Given the description of an element on the screen output the (x, y) to click on. 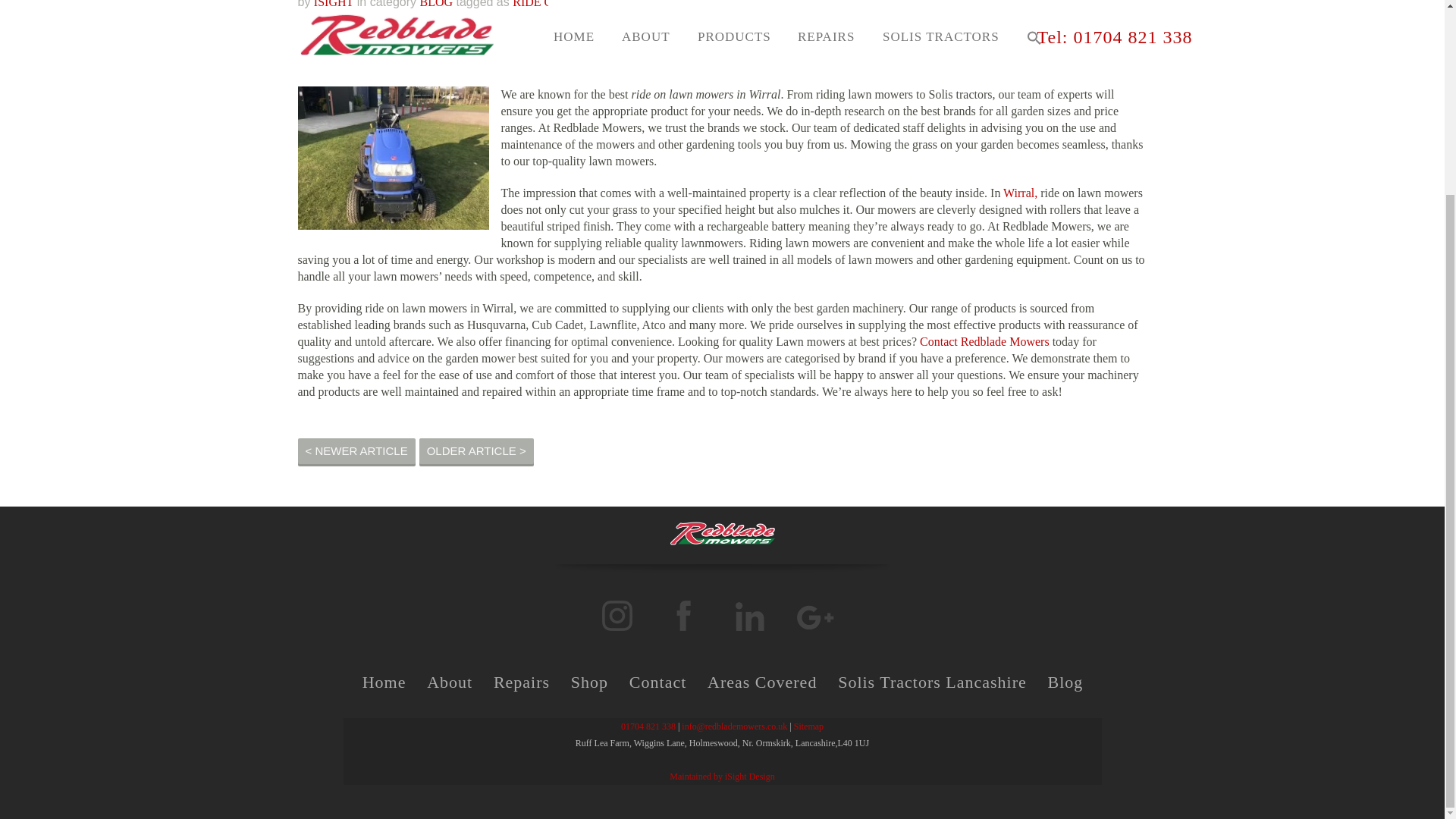
About (449, 683)
0 (1013, 5)
Home (383, 683)
ISIGHT (333, 4)
0 (963, 4)
Posts by isight (333, 4)
Like (1013, 5)
BLOG (435, 4)
Wirral, (1019, 192)
WIRRAL RIDE ON LAWN MOWERS (826, 4)
RIDE ON LAWN MOWERS IN WIRRAL (617, 4)
Contact Redblade Mowers (983, 341)
